Given the description of an element on the screen output the (x, y) to click on. 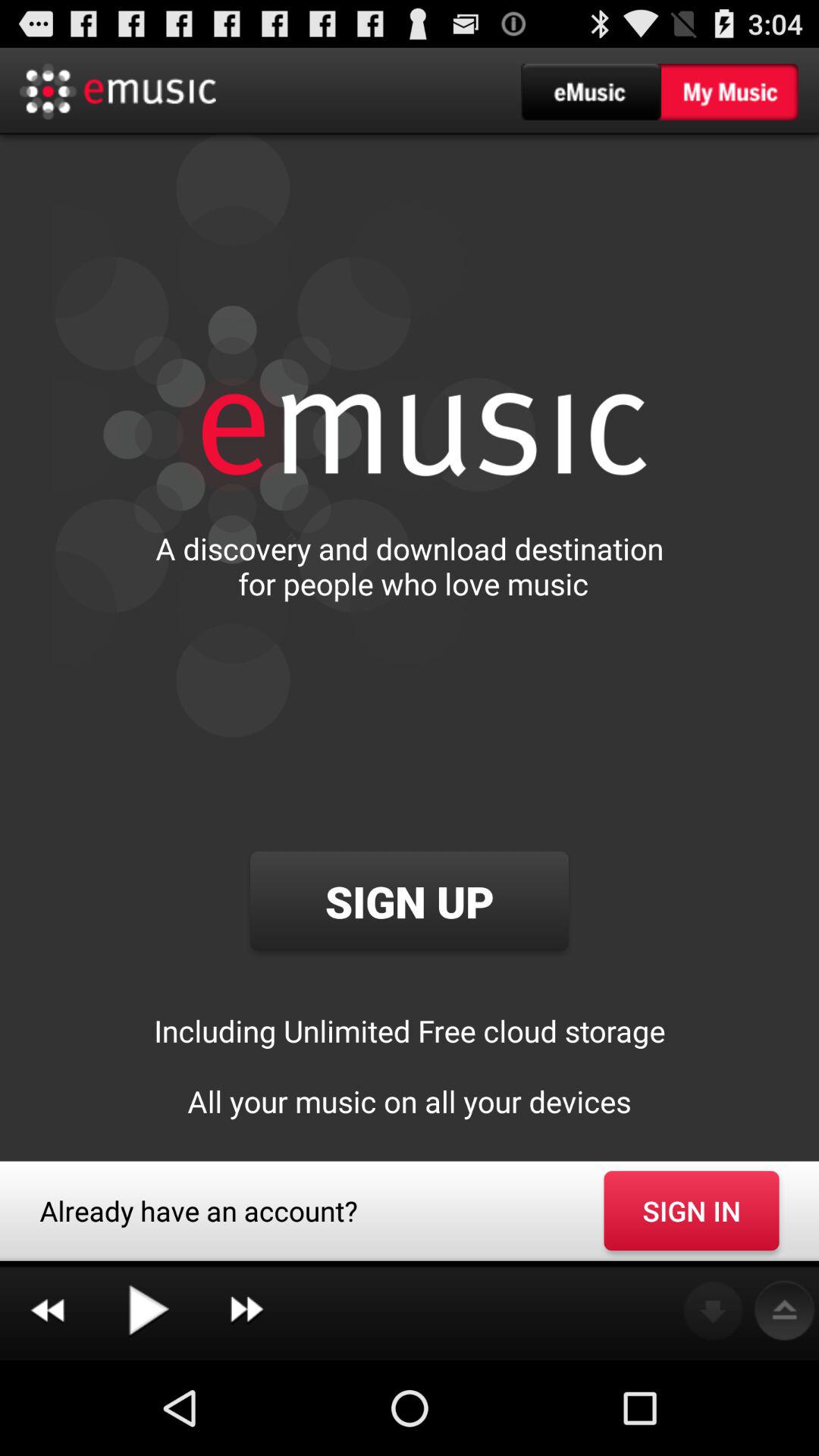
turn off the app next to already have an icon (691, 1210)
